Given the description of an element on the screen output the (x, y) to click on. 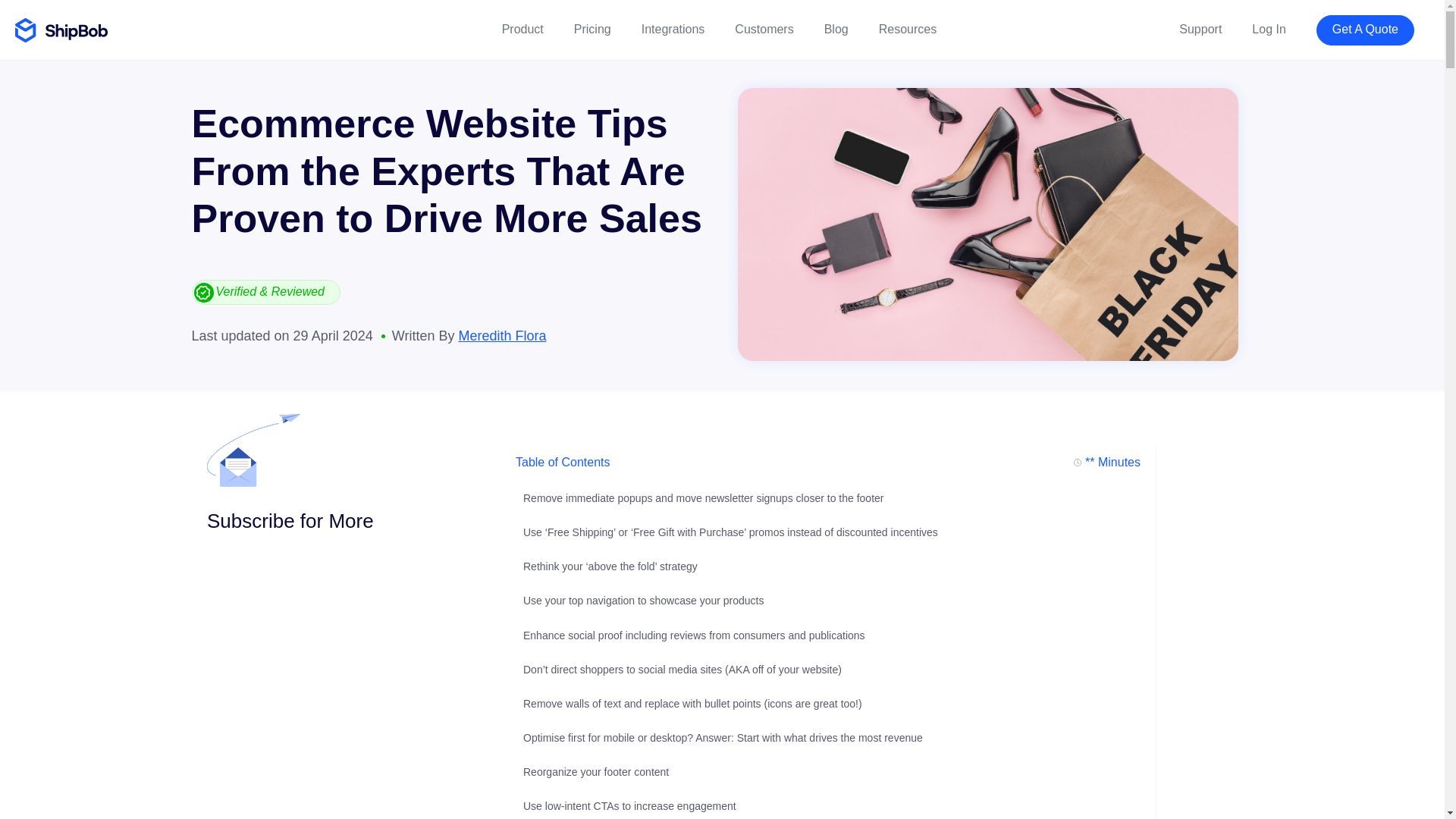
Skip to content (45, 14)
Product (522, 29)
Log In (1268, 29)
Resources (907, 29)
Posts by Meredith Flora (502, 335)
Get A Quote (1364, 30)
Integrations (673, 29)
Use low-intent CTAs to increase engagement (629, 806)
Meredith Flora (502, 335)
Pricing (592, 29)
